Given the description of an element on the screen output the (x, y) to click on. 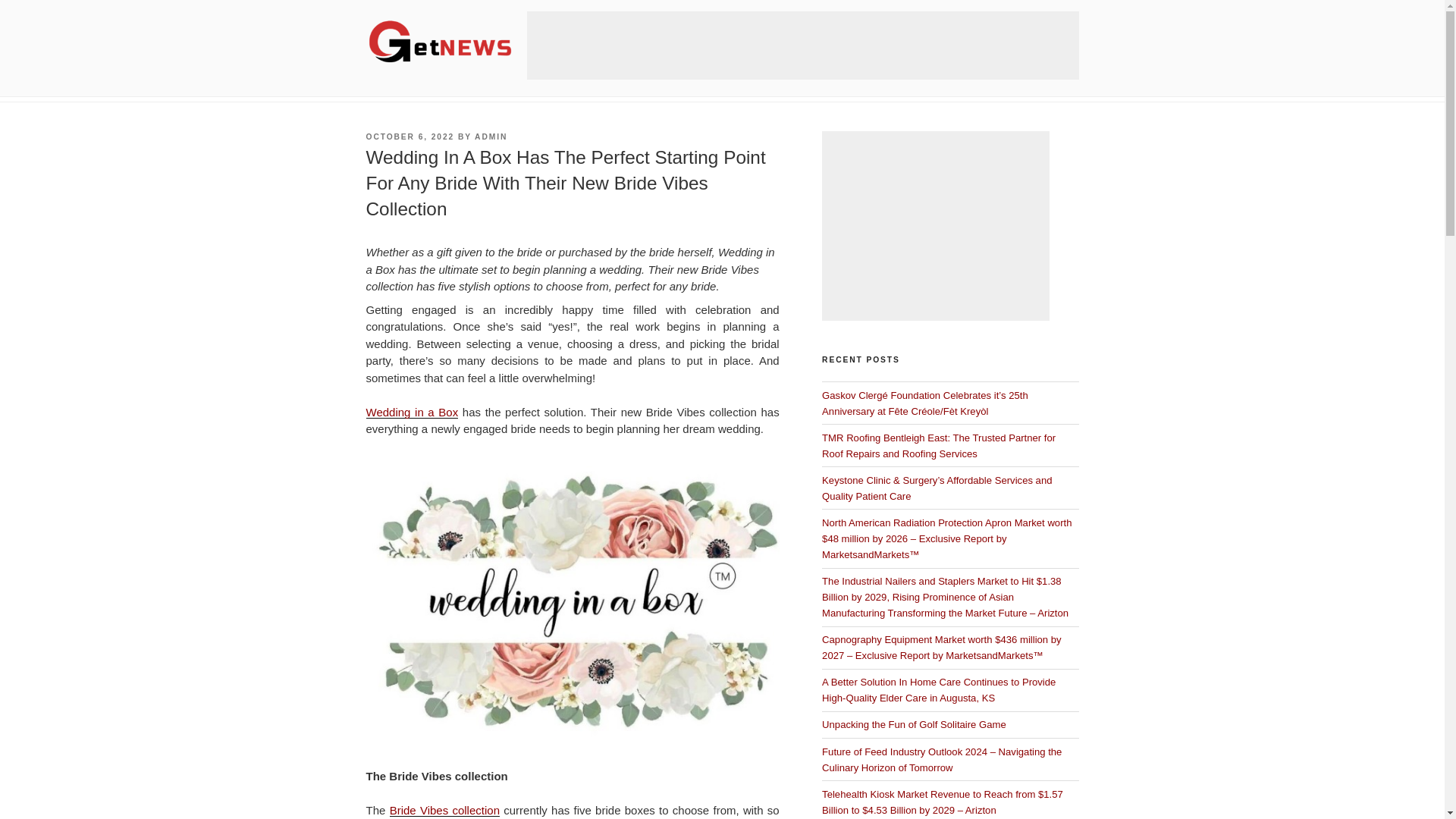
Wedding in a Box (411, 411)
ADMIN (490, 136)
Advertisement (935, 226)
Unpacking the Fun of Golf Solitaire Game (914, 724)
OCTOBER 6, 2022 (409, 136)
Advertisement (801, 45)
GET NEWS (441, 92)
Bride Vibes collection (444, 809)
